Given the description of an element on the screen output the (x, y) to click on. 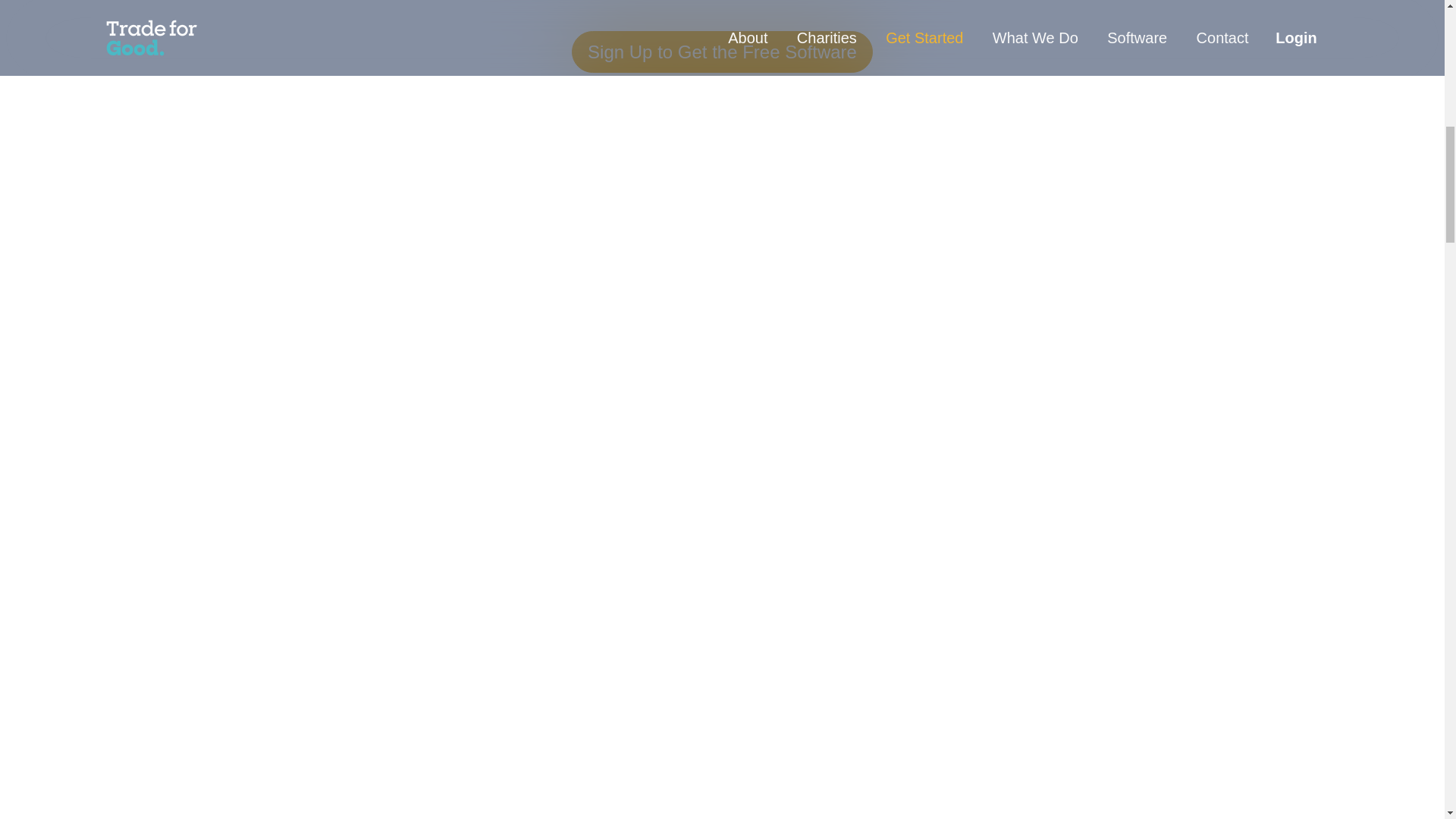
Sign Up to Get the Free Software (722, 51)
